Given the description of an element on the screen output the (x, y) to click on. 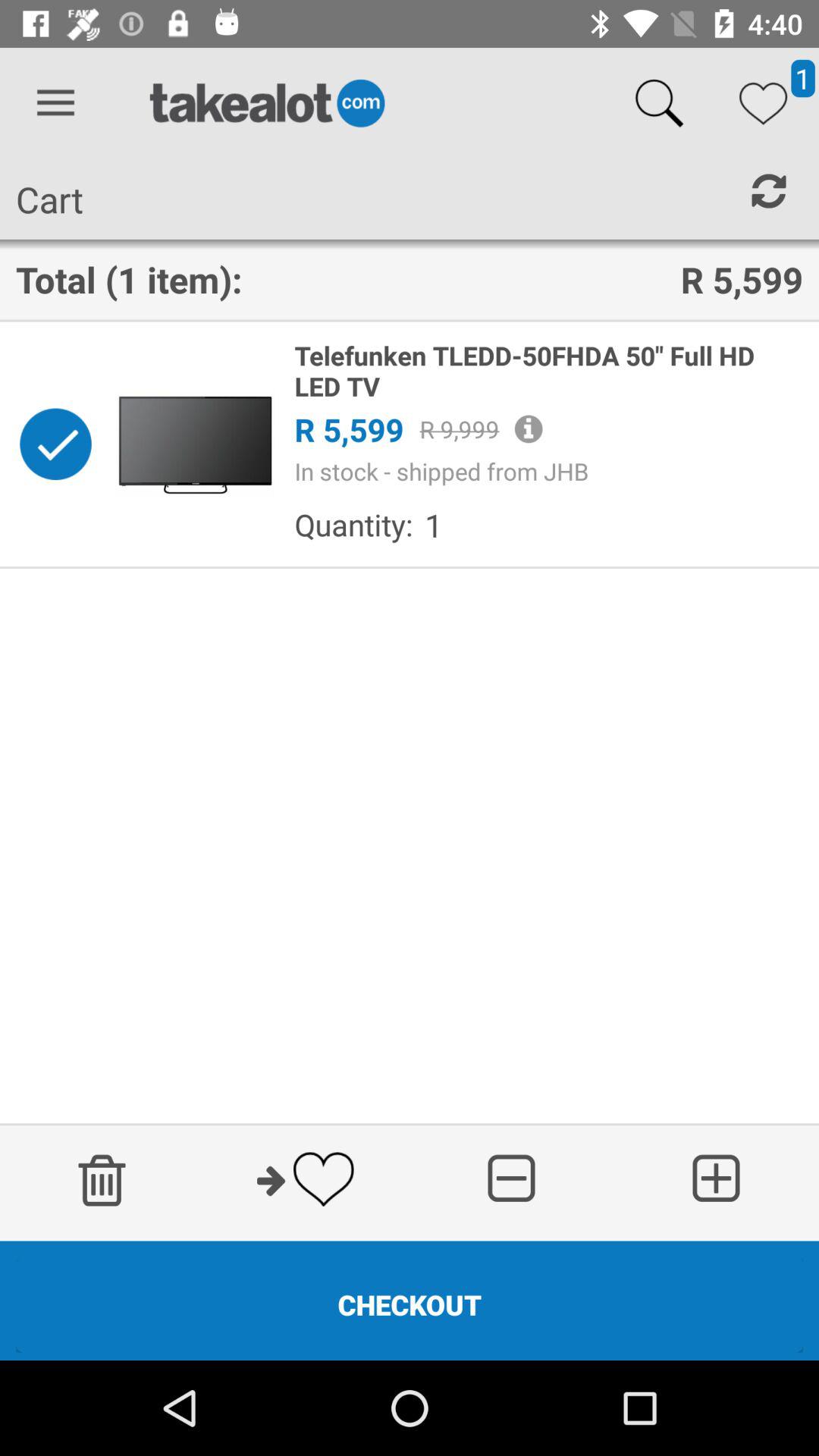
launch item next to the telefunken tledd 50fhda icon (194, 443)
